Given the description of an element on the screen output the (x, y) to click on. 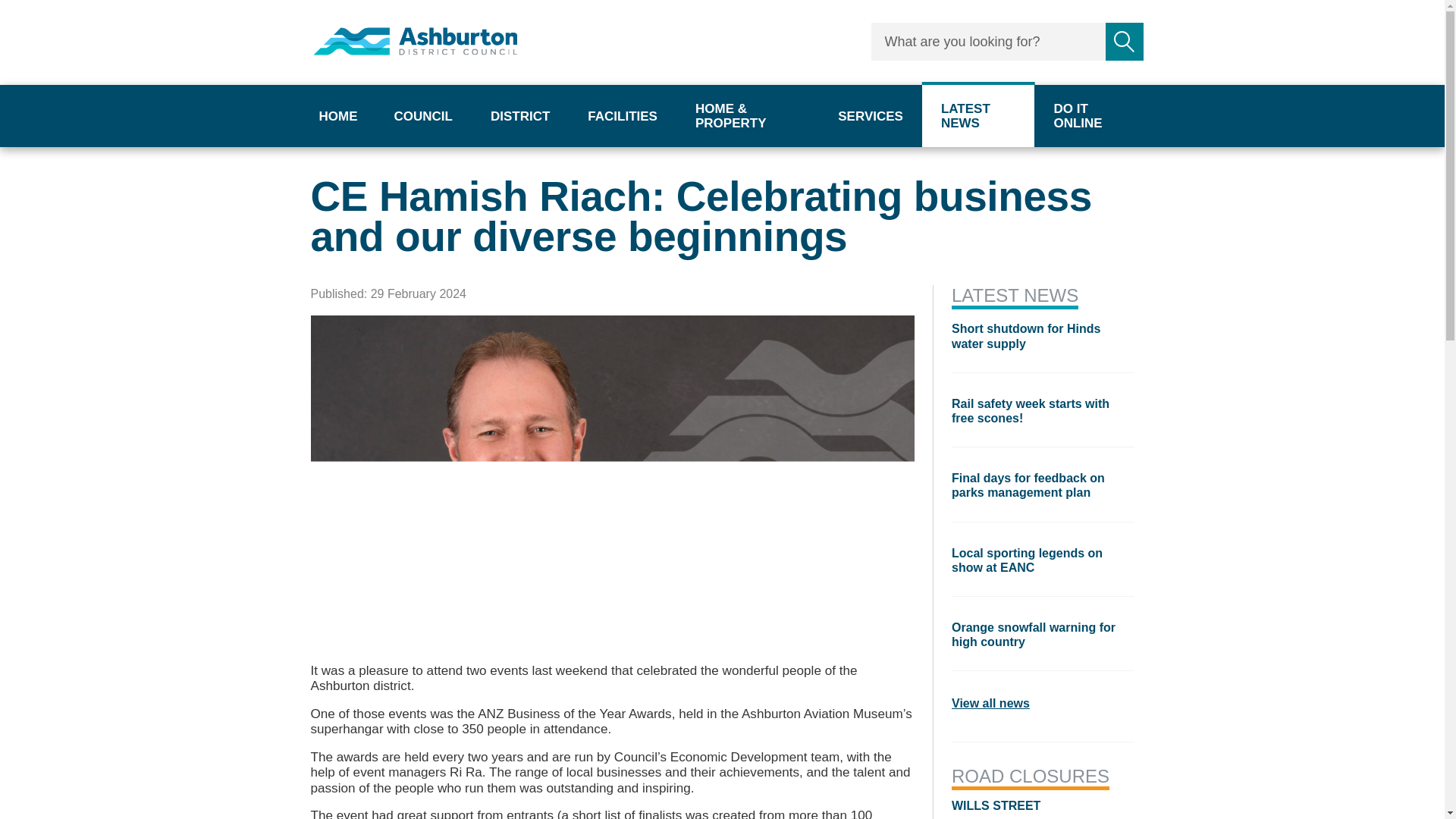
DISTRICT (520, 116)
Site Logo (415, 41)
FACILITIES (623, 116)
Submit search (1123, 41)
COUNCIL (422, 116)
